Given the description of an element on the screen output the (x, y) to click on. 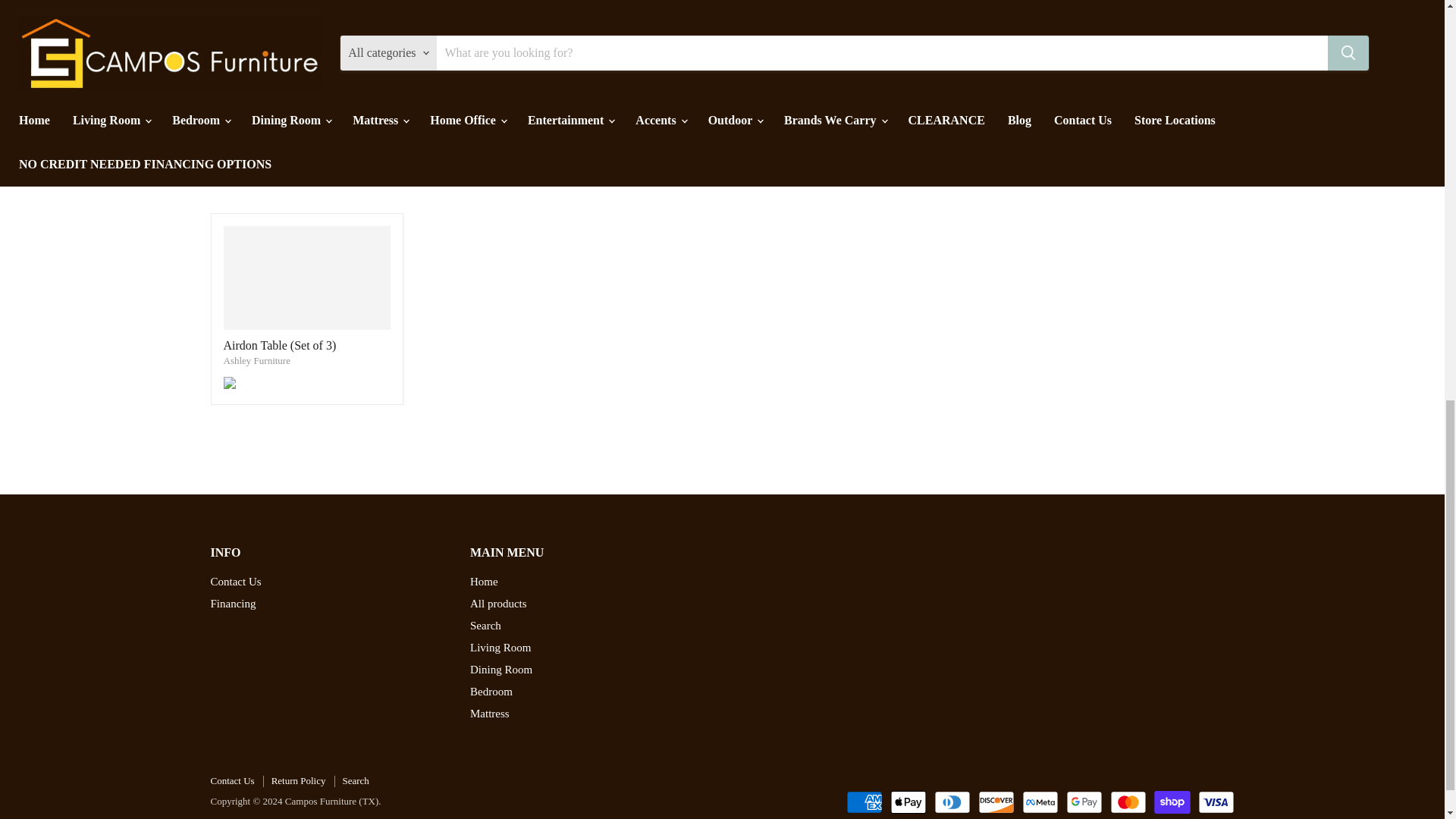
American Express (863, 802)
Diners Club (952, 802)
Apple Pay (907, 802)
Ashley Furniture (255, 360)
